Given the description of an element on the screen output the (x, y) to click on. 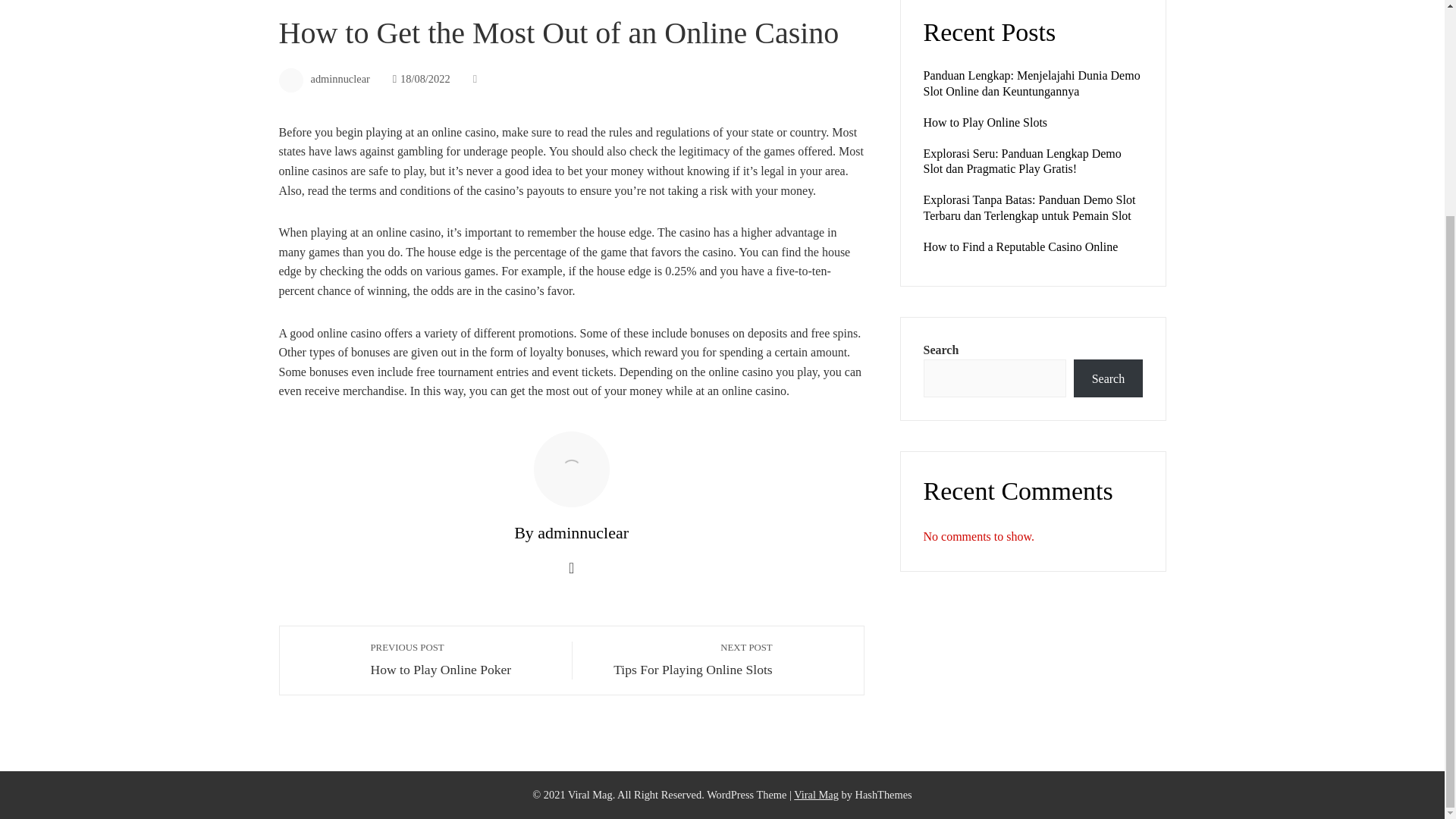
GAMBLING (680, 659)
Download Viral News (305, 1)
Search (815, 794)
How to Play Online Slots (1107, 378)
Viral Mag (985, 122)
How to Find a Reputable Casino Online (815, 794)
